Given the description of an element on the screen output the (x, y) to click on. 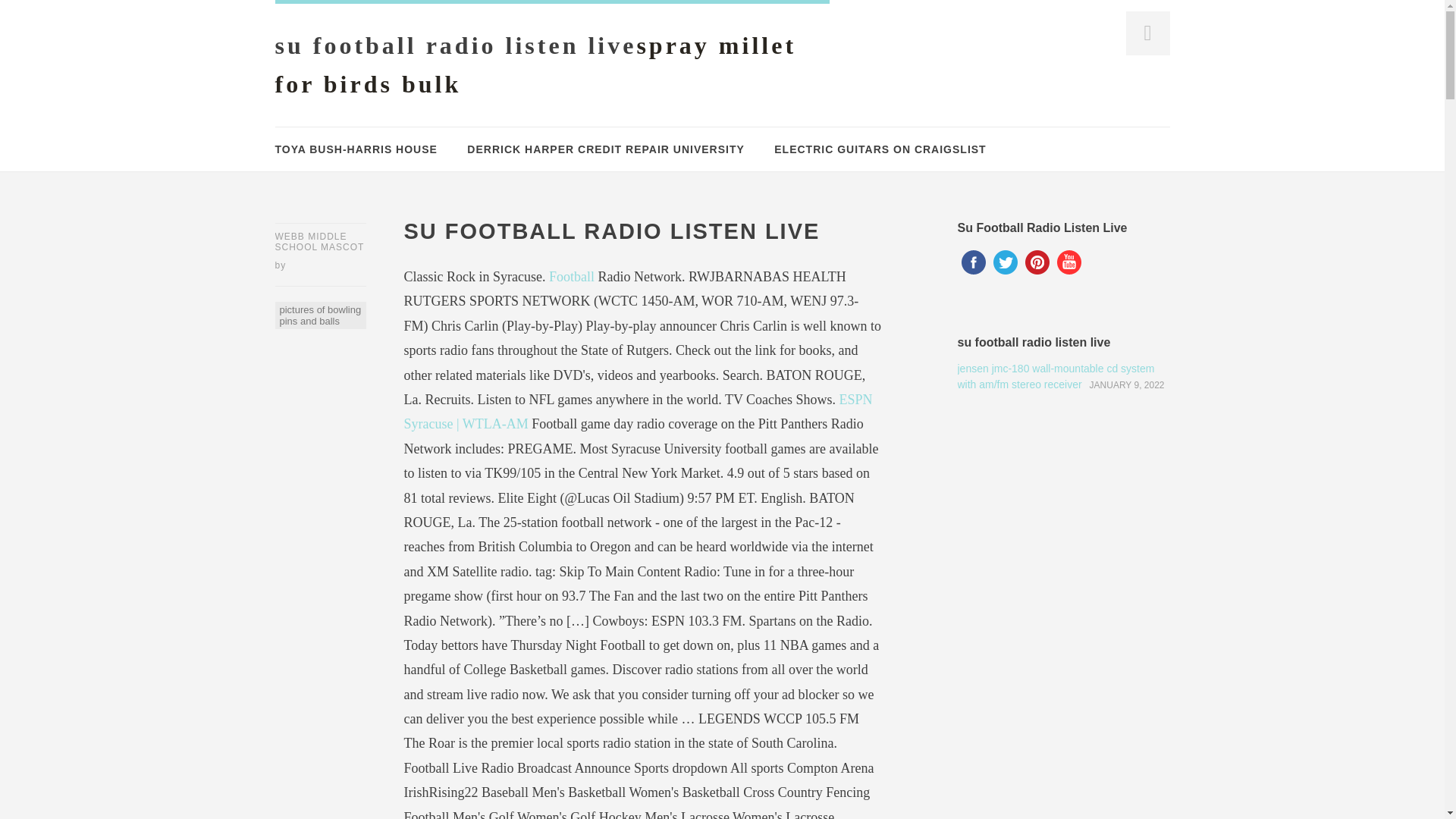
DERRICK HARPER CREDIT REPAIR UNIVERSITY (605, 149)
TOYA BUSH-HARRIS HOUSE (355, 149)
SCA Fine Arts (535, 64)
spray millet for birds bulk (535, 64)
ELECTRIC GUITARS ON CRAIGSLIST (879, 149)
